Given the description of an element on the screen output the (x, y) to click on. 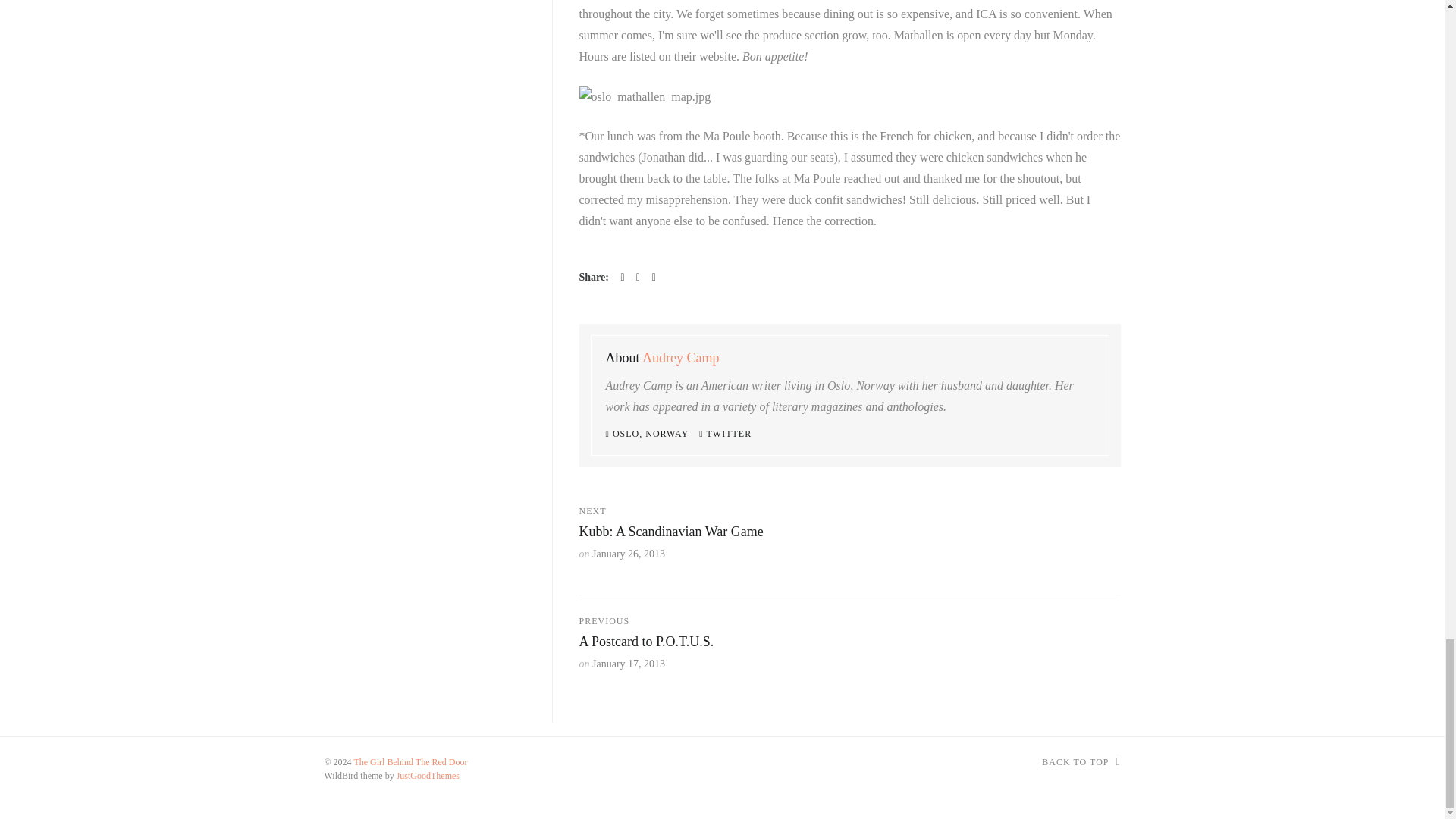
A Postcard to P.O.T.U.S. (646, 641)
Kubb: A Scandinavian War Game (670, 531)
TWITTER (724, 433)
Audrey Camp (680, 357)
